Given the description of an element on the screen output the (x, y) to click on. 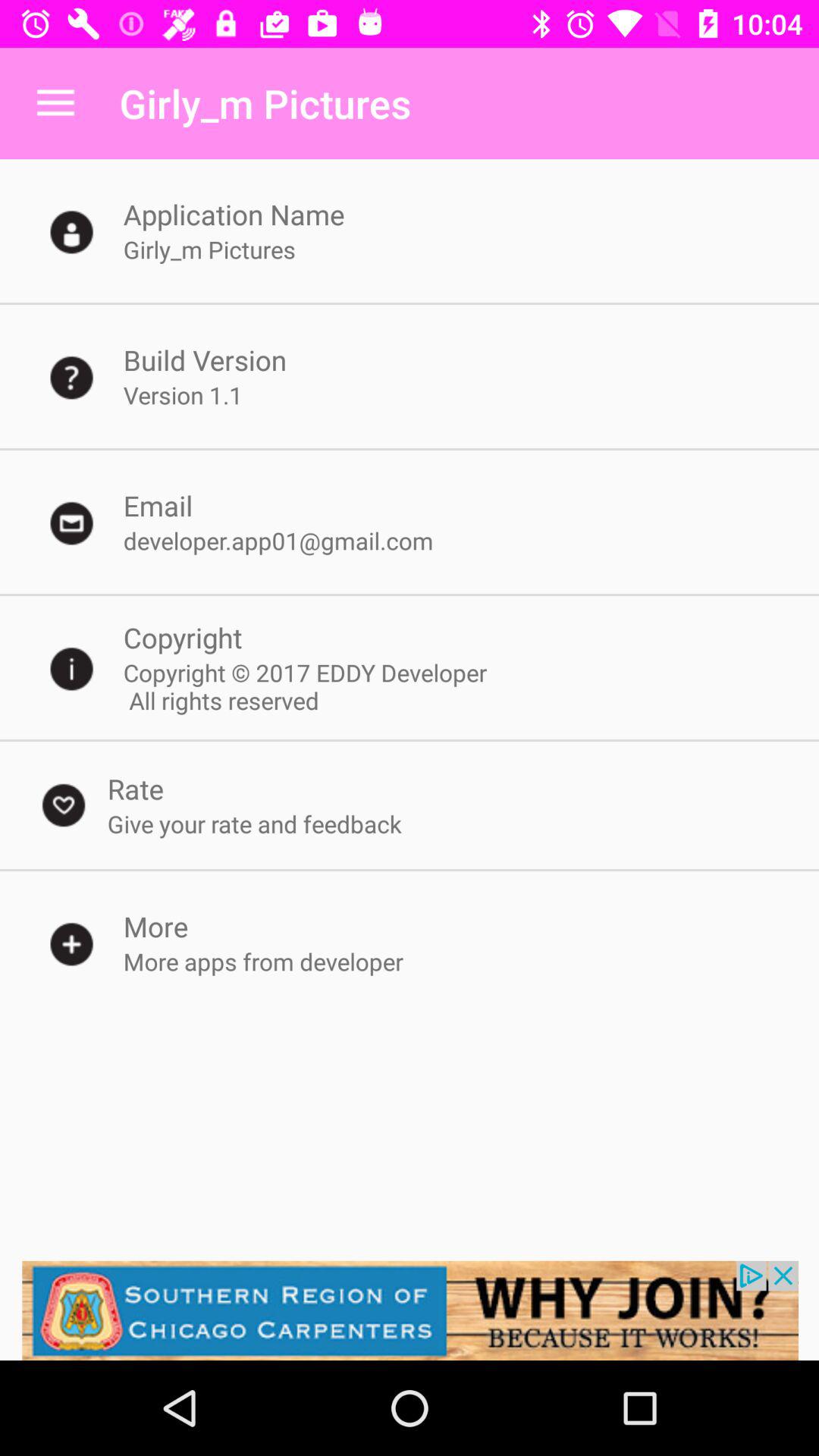
click on the icon left side of application name (72, 231)
click on the icon which is left to the text email (72, 522)
